Given the description of an element on the screen output the (x, y) to click on. 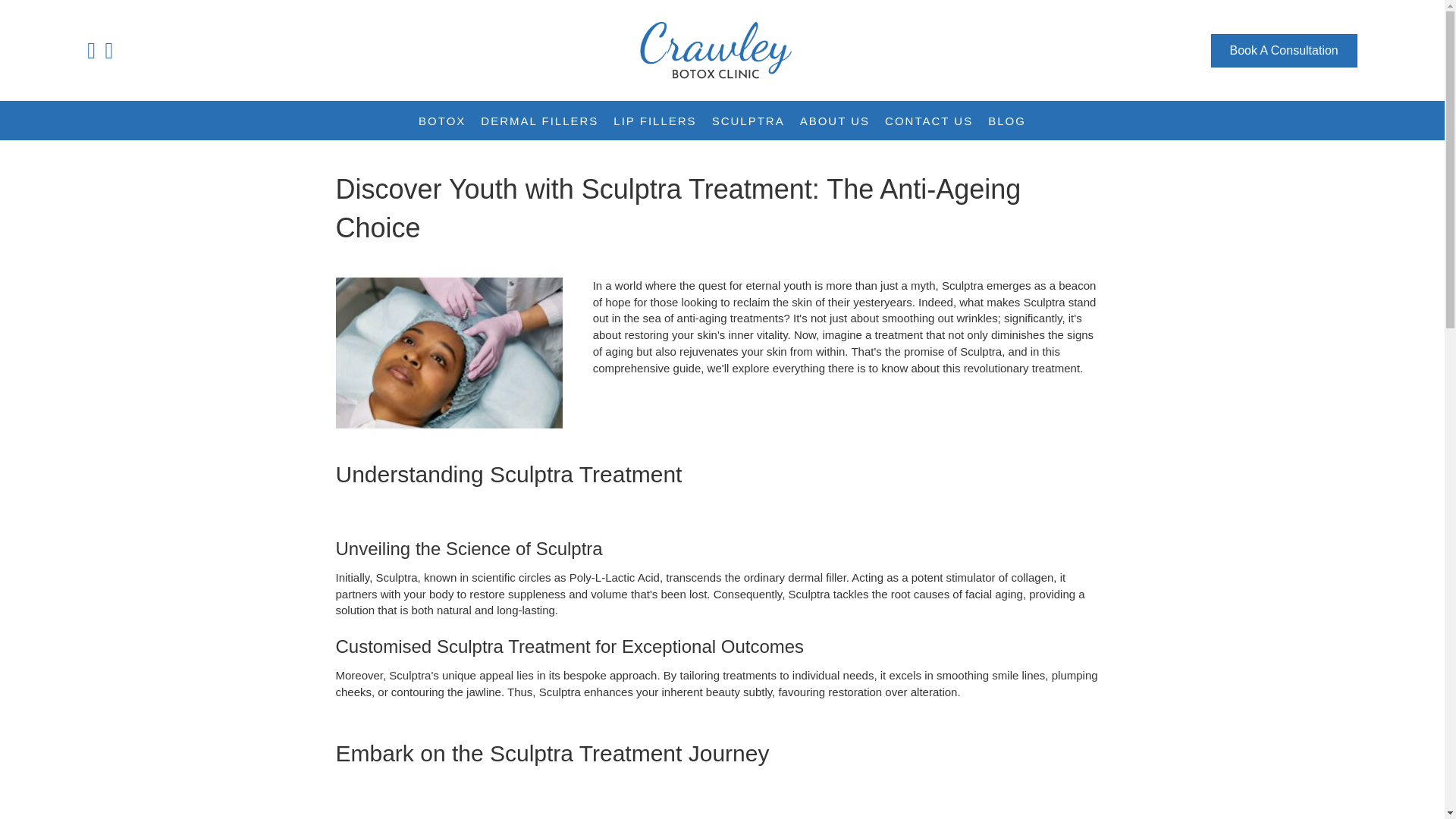
SCULPTRA (748, 121)
Book A Consultation (1283, 50)
BLOG (1006, 121)
ABOUT US (834, 121)
crawley-botox-clinic-logo (716, 50)
CONTACT US (928, 121)
LIP FILLERS (654, 121)
BOTOX (441, 121)
Sculptra Treatment (448, 352)
DERMAL FILLERS (539, 121)
